Given the description of an element on the screen output the (x, y) to click on. 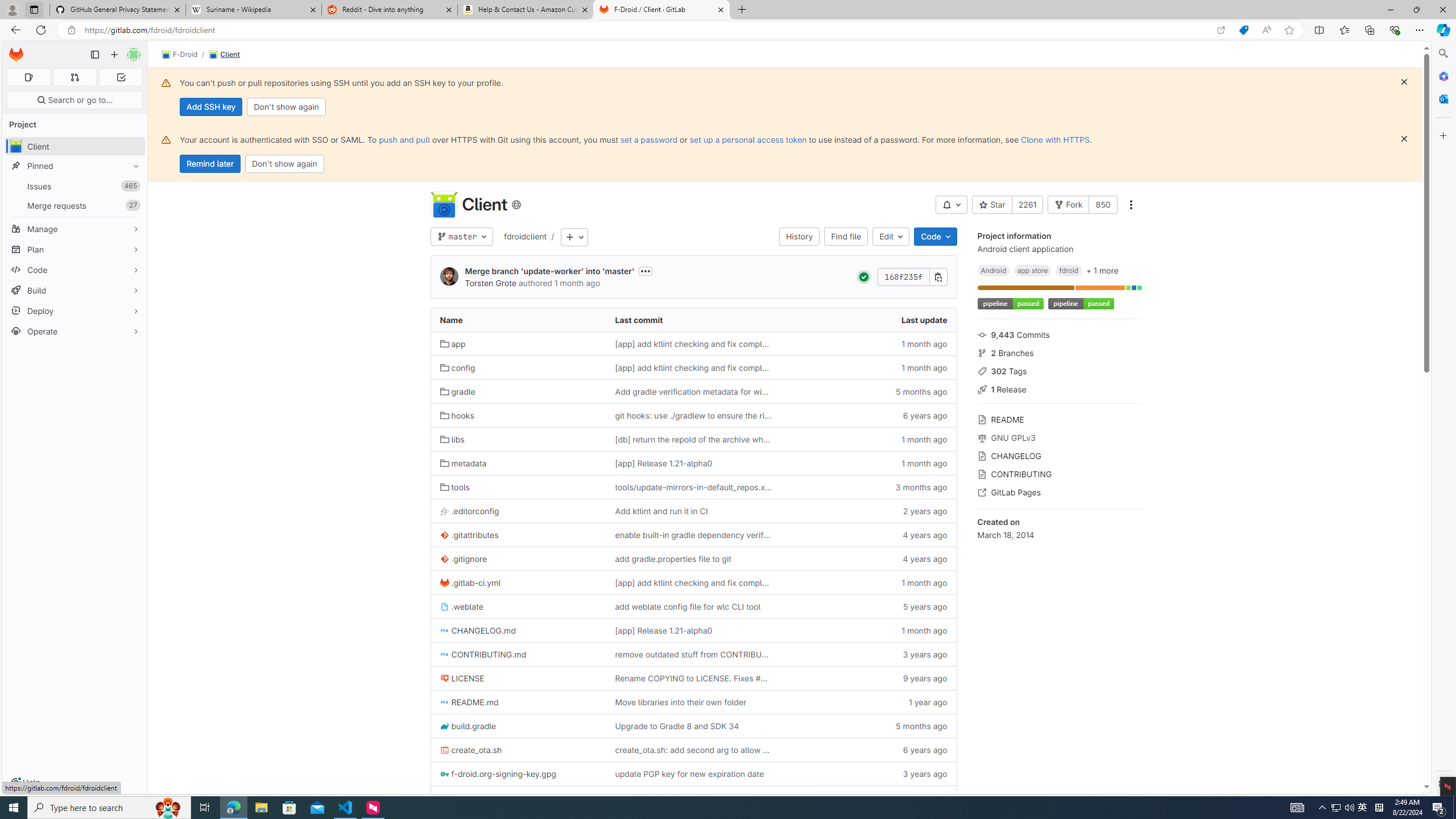
Copy commit SHA (937, 276)
README (1058, 418)
Merge requests27 (74, 205)
add gradle.properties file to git (672, 558)
Operate (74, 330)
.gitlab-ci.yml (469, 582)
.gitignore (517, 558)
f-droid.org-signing-key.gpg (497, 774)
Merge branch 'update-worker' into 'master' (549, 271)
5 months ago (868, 725)
2261 (1027, 204)
Add gradle verification metadata for windows (692, 391)
